Given the description of an element on the screen output the (x, y) to click on. 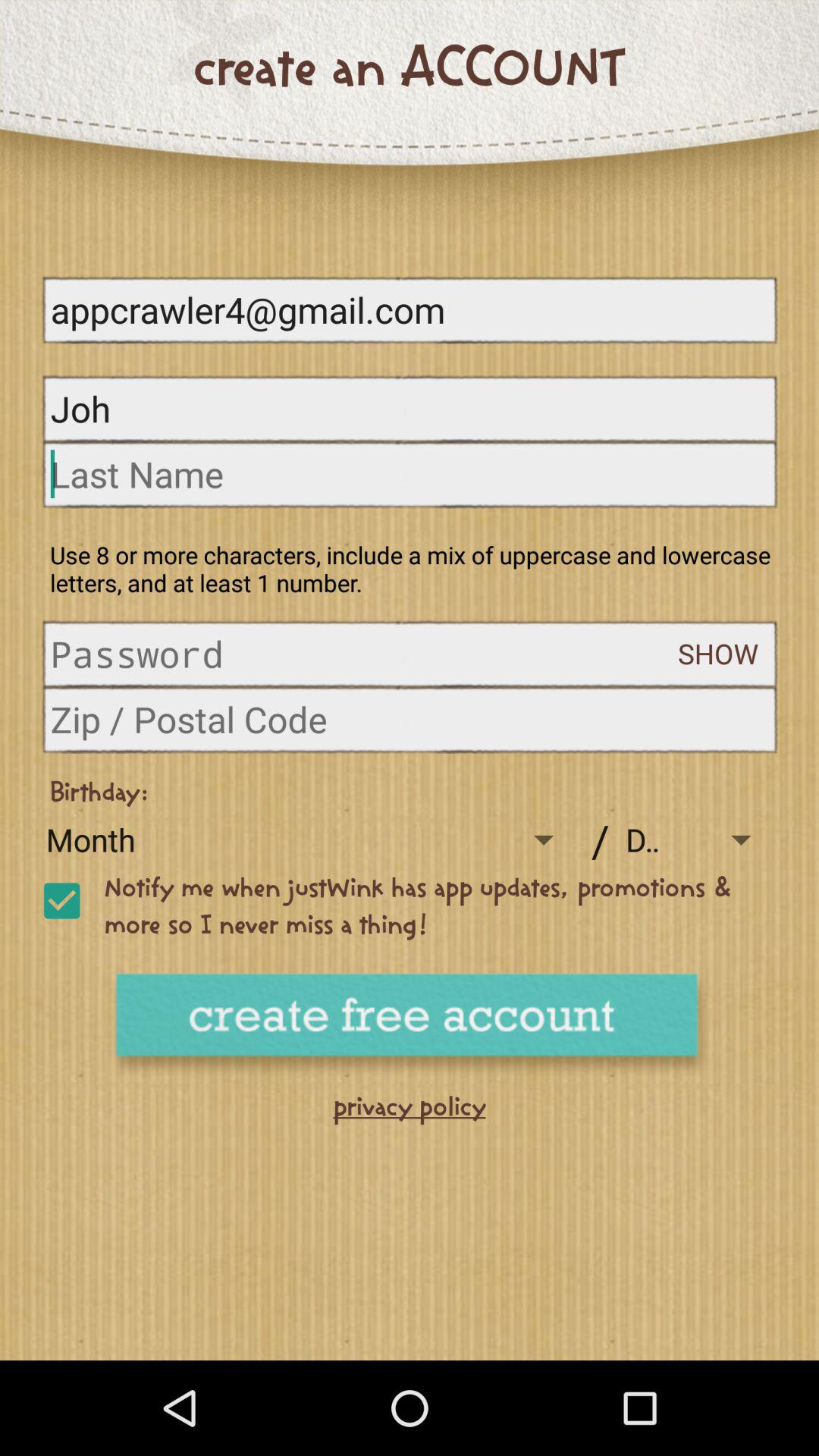
enter password (363, 653)
